Given the description of an element on the screen output the (x, y) to click on. 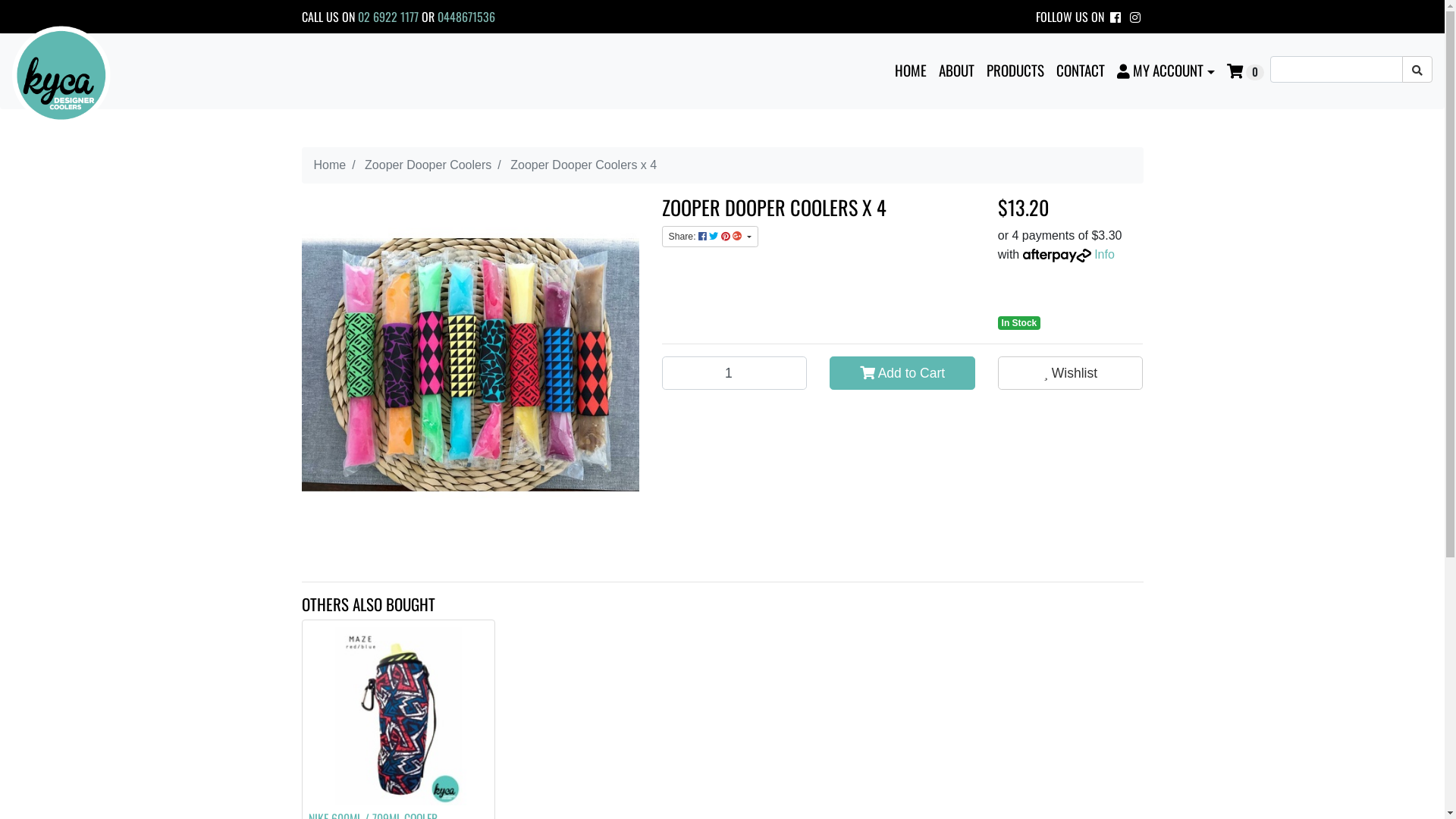
Add to Cart Element type: text (902, 372)
0448671536 Element type: text (465, 16)
Zooper Dooper Coolers x 4 Element type: text (583, 164)
0 Element type: text (1245, 71)
Home Element type: text (329, 164)
Search Element type: text (1417, 69)
HOME Element type: text (910, 70)
KyCa Designer Coolers Element type: hover (61, 74)
FACEBOOK Element type: text (1115, 16)
CONTACT Element type: text (1080, 70)
Wishlist Element type: text (1070, 372)
PRODUCTS Element type: text (1015, 70)
Info Element type: text (1104, 253)
02 6922 1177 Element type: text (387, 16)
ABOUT Element type: text (956, 70)
MY ACCOUNT Element type: text (1165, 70)
Zooper Dooper Coolers Element type: text (427, 164)
INSTAGRAM Element type: text (1134, 16)
Share: Element type: text (709, 236)
